Given the description of an element on the screen output the (x, y) to click on. 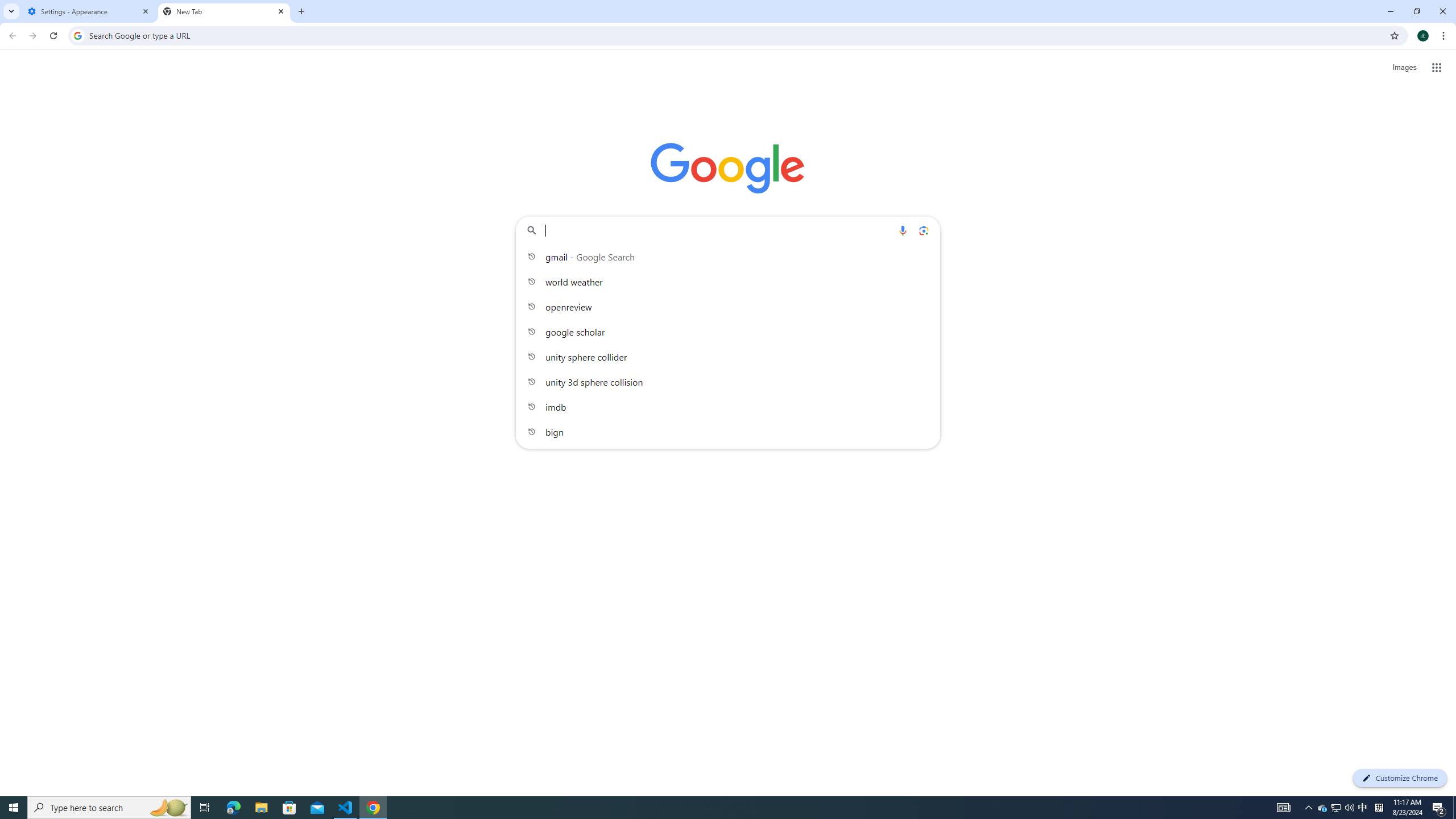
More actions for Sign in shortcut (750, 264)
Add shortcut (855, 285)
Search Google or type a URL (727, 230)
